Given the description of an element on the screen output the (x, y) to click on. 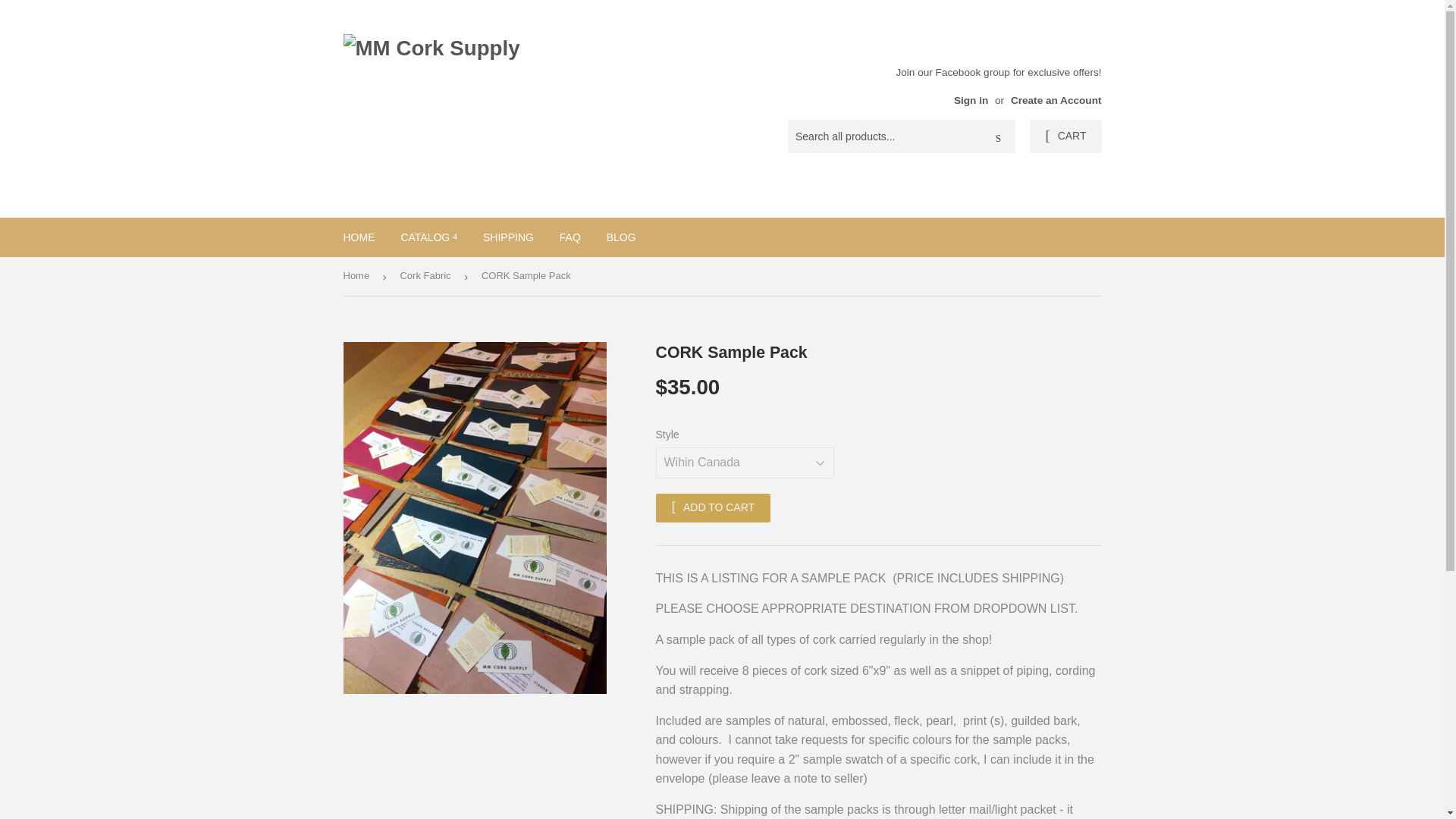
BLOG (621, 237)
SHIPPING (507, 237)
Sign in (970, 99)
ADD TO CART (712, 507)
FAQ (570, 237)
Search (997, 137)
HOME (359, 237)
Cork Fabric (426, 276)
CATALOG (428, 237)
Create an Account (1056, 99)
